Given the description of an element on the screen output the (x, y) to click on. 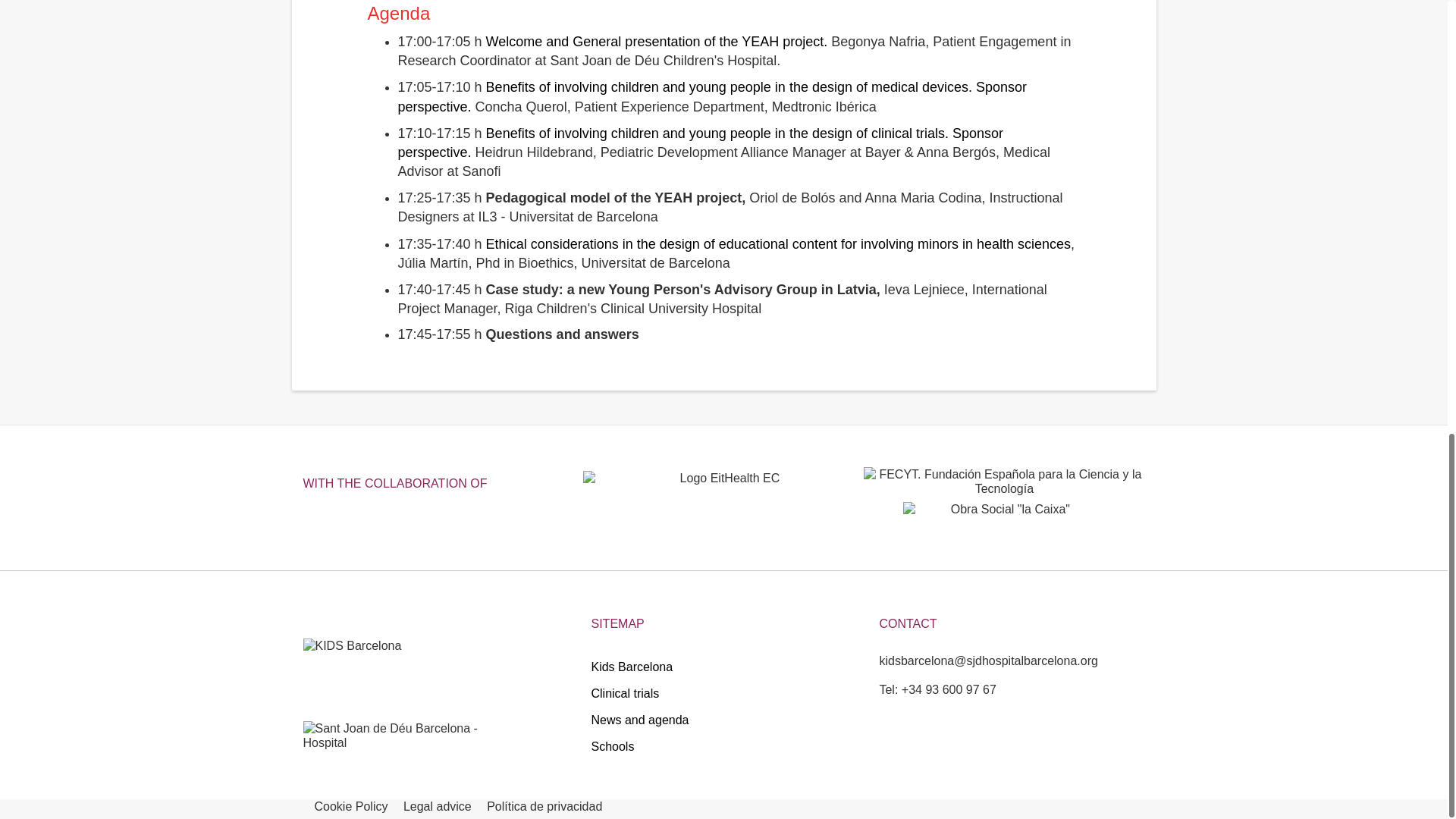
News and agenda (723, 719)
Logo EitHealth EC (723, 495)
KIDS Barcelona (366, 679)
Kids Barcelona (723, 666)
Schools (723, 746)
Obra Social "la Caixa" (1003, 526)
Clinical trials (723, 693)
